Given the description of an element on the screen output the (x, y) to click on. 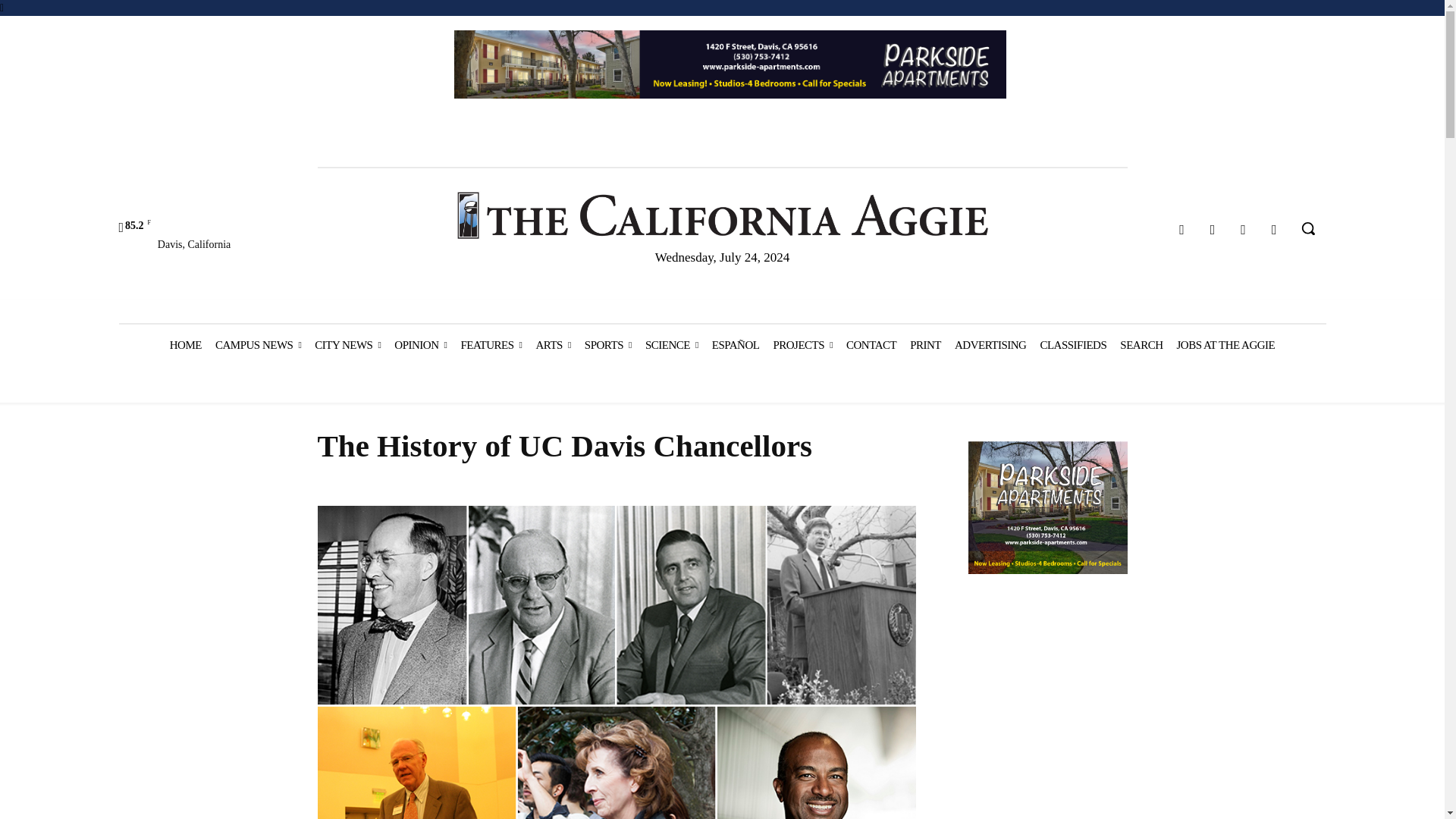
Instagram (1212, 229)
Facebook (1181, 229)
Youtube (1273, 229)
HOME (185, 345)
CAMPUS NEWS (257, 345)
Twitter (1243, 229)
